Given the description of an element on the screen output the (x, y) to click on. 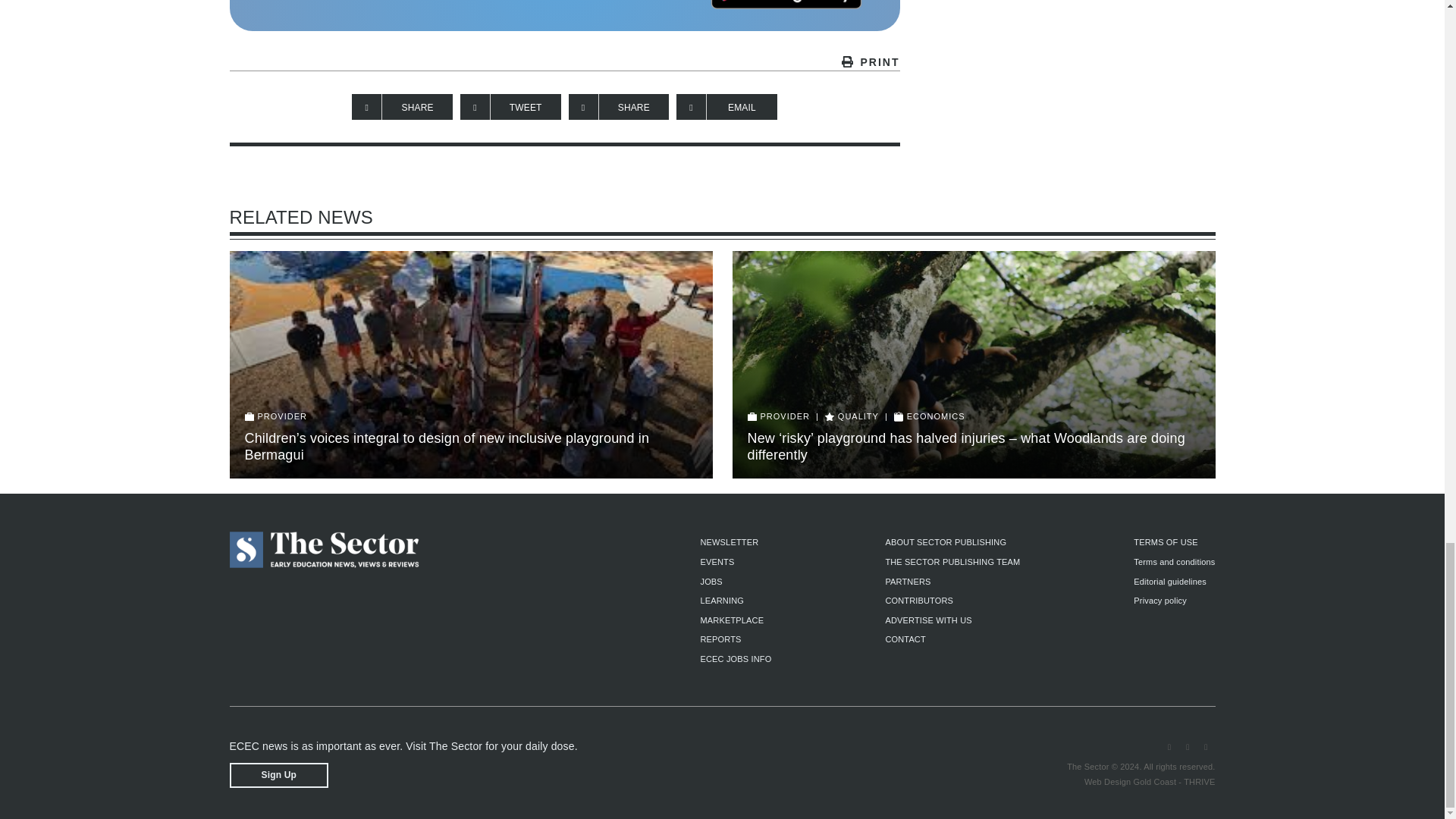
Share on Email (727, 106)
Share on LinkedIn (619, 106)
Web Design Gold Coast (1130, 781)
Tweet (510, 106)
Share on Facebook (402, 106)
